Given the description of an element on the screen output the (x, y) to click on. 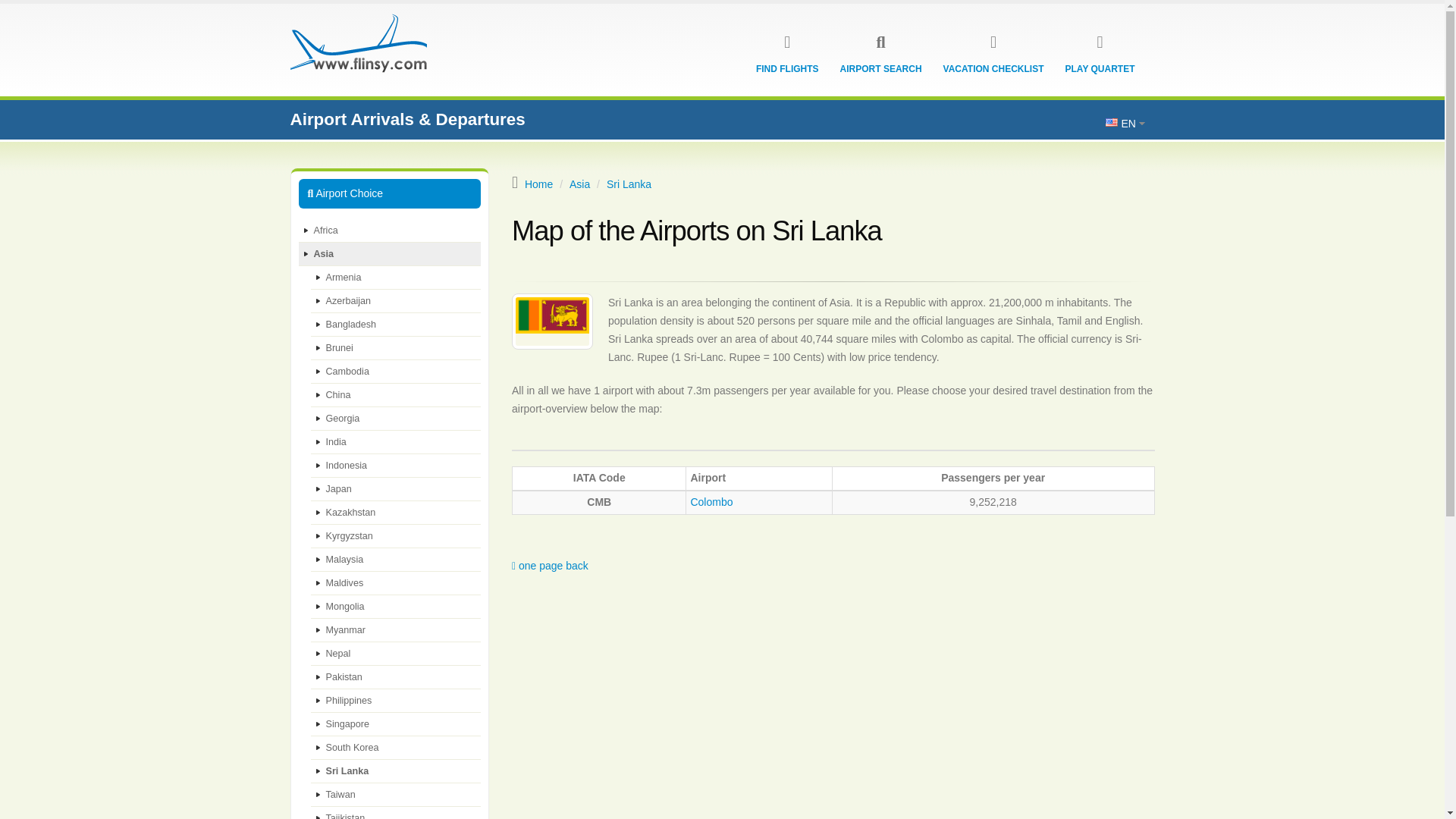
Armenia (396, 277)
South Korea (396, 748)
Tajikistan (396, 812)
Maldives (396, 583)
VACATION CHECKLIST (993, 69)
Brunei (396, 348)
Africa (389, 230)
Mongolia (396, 607)
AIRPORT SEARCH (880, 69)
India (396, 442)
PLAY QUARTET (1099, 69)
Japan (396, 489)
Taiwan (396, 794)
China (396, 395)
Kazakhstan (396, 512)
